Given the description of an element on the screen output the (x, y) to click on. 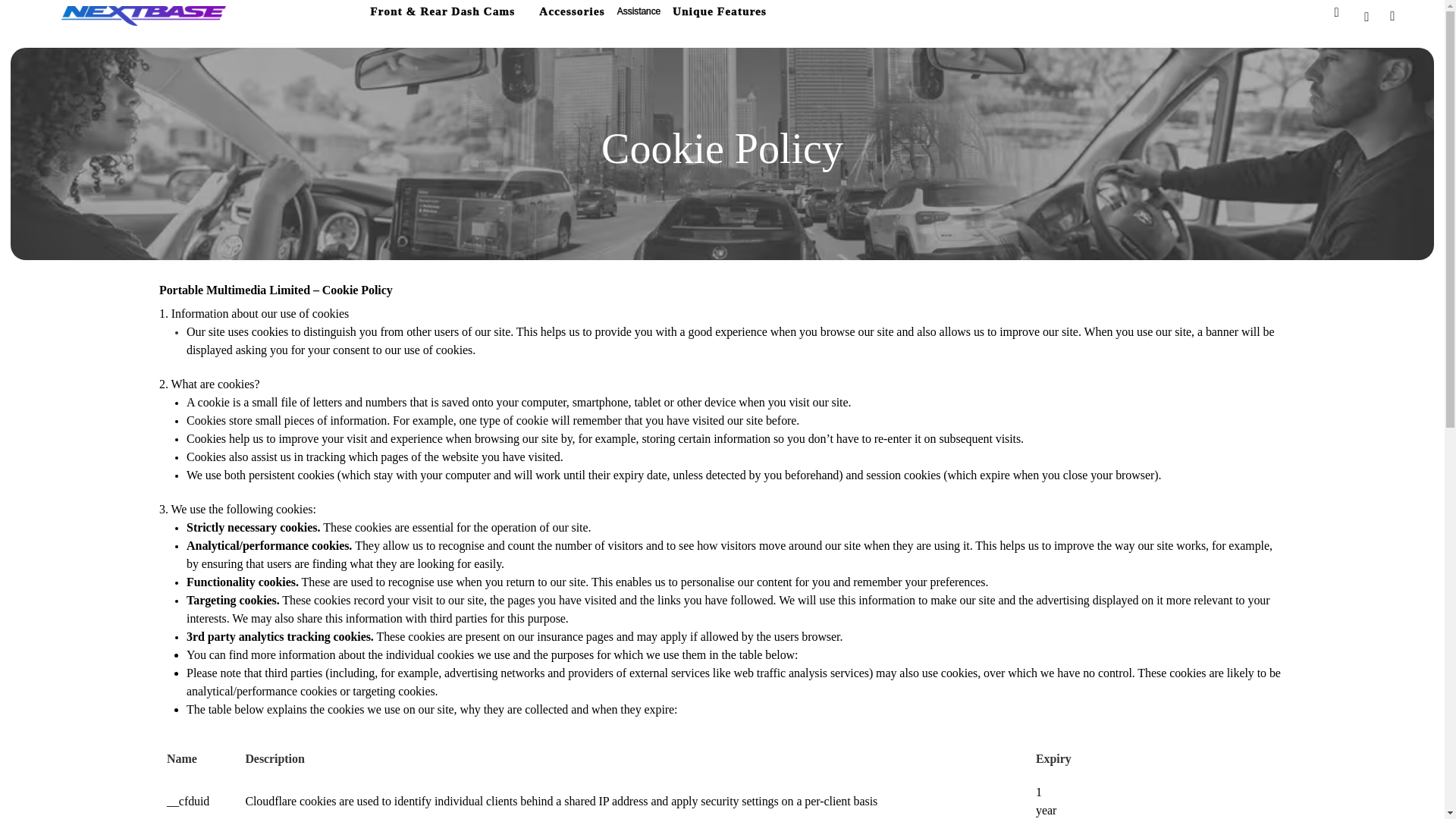
Unique Features (719, 15)
Assistance (639, 15)
Nextbase - Japan (143, 15)
Accessories (572, 15)
